Given the description of an element on the screen output the (x, y) to click on. 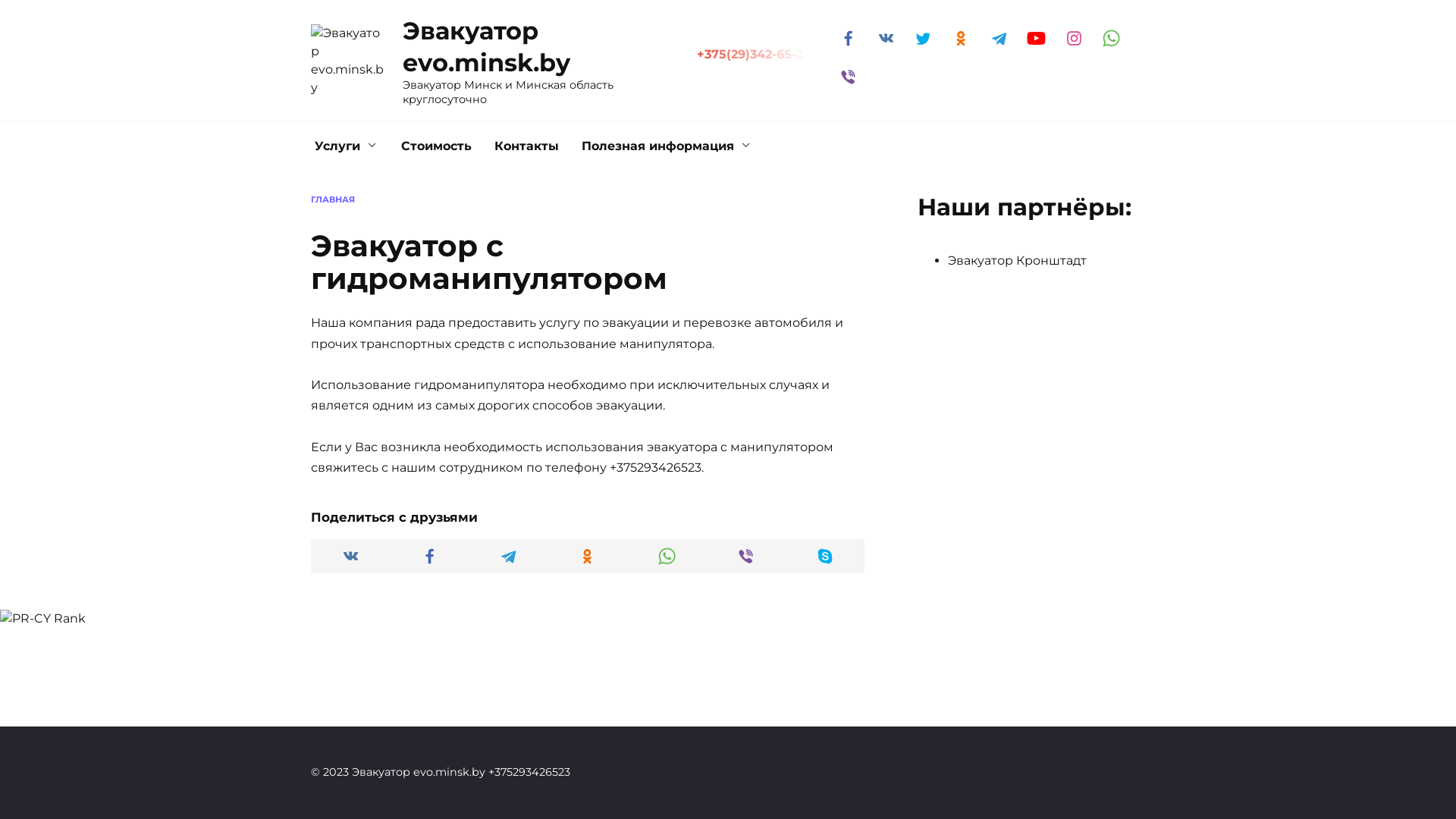
+375(29)342-65-2 Element type: text (752, 54)
